Given the description of an element on the screen output the (x, y) to click on. 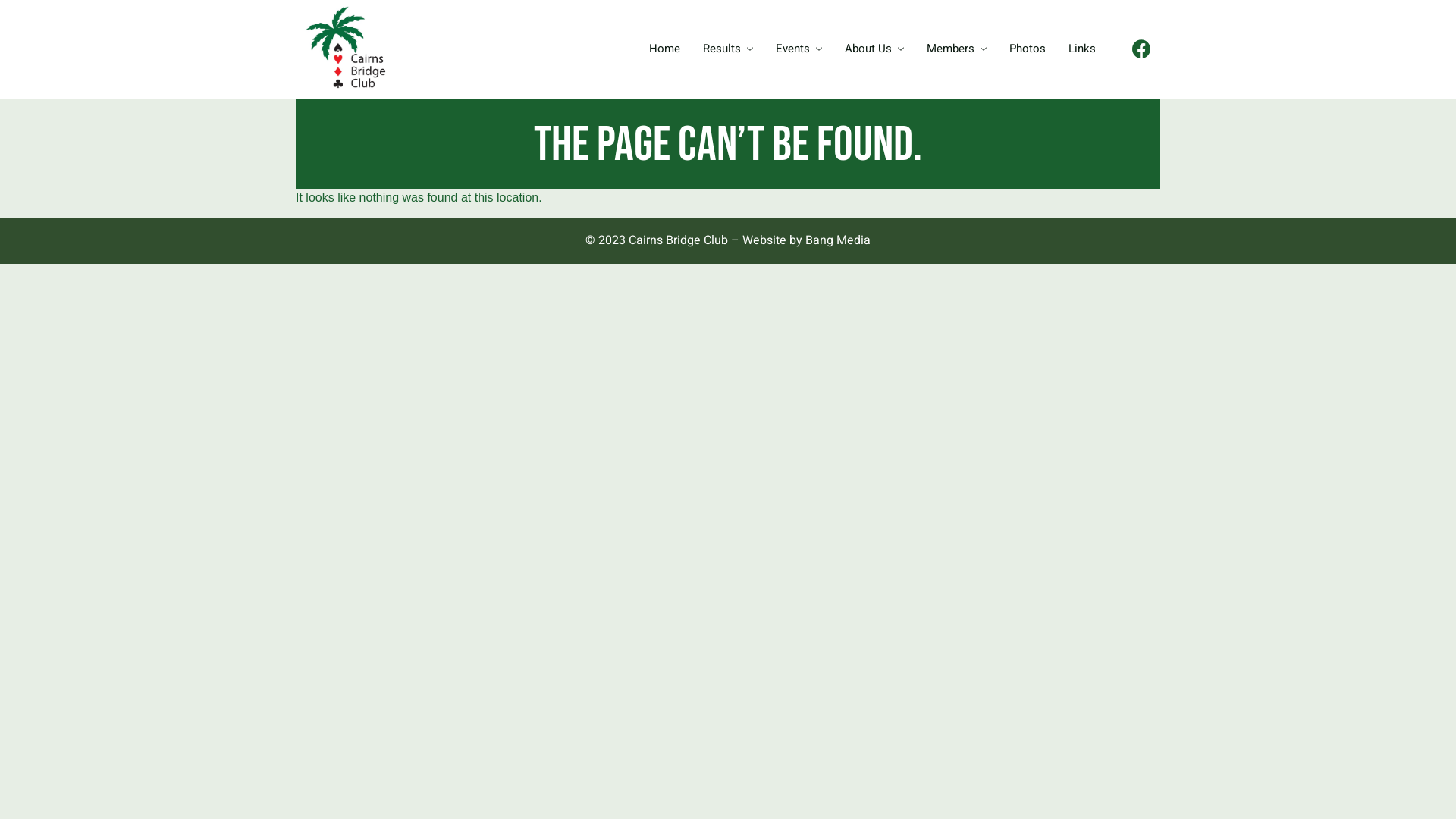
Links Element type: text (1082, 49)
Home Element type: text (664, 49)
Events Element type: text (798, 49)
About Us Element type: text (874, 49)
Results Element type: text (727, 49)
Bang Media Element type: text (837, 240)
Photos Element type: text (1027, 49)
Members Element type: text (956, 49)
